Given the description of an element on the screen output the (x, y) to click on. 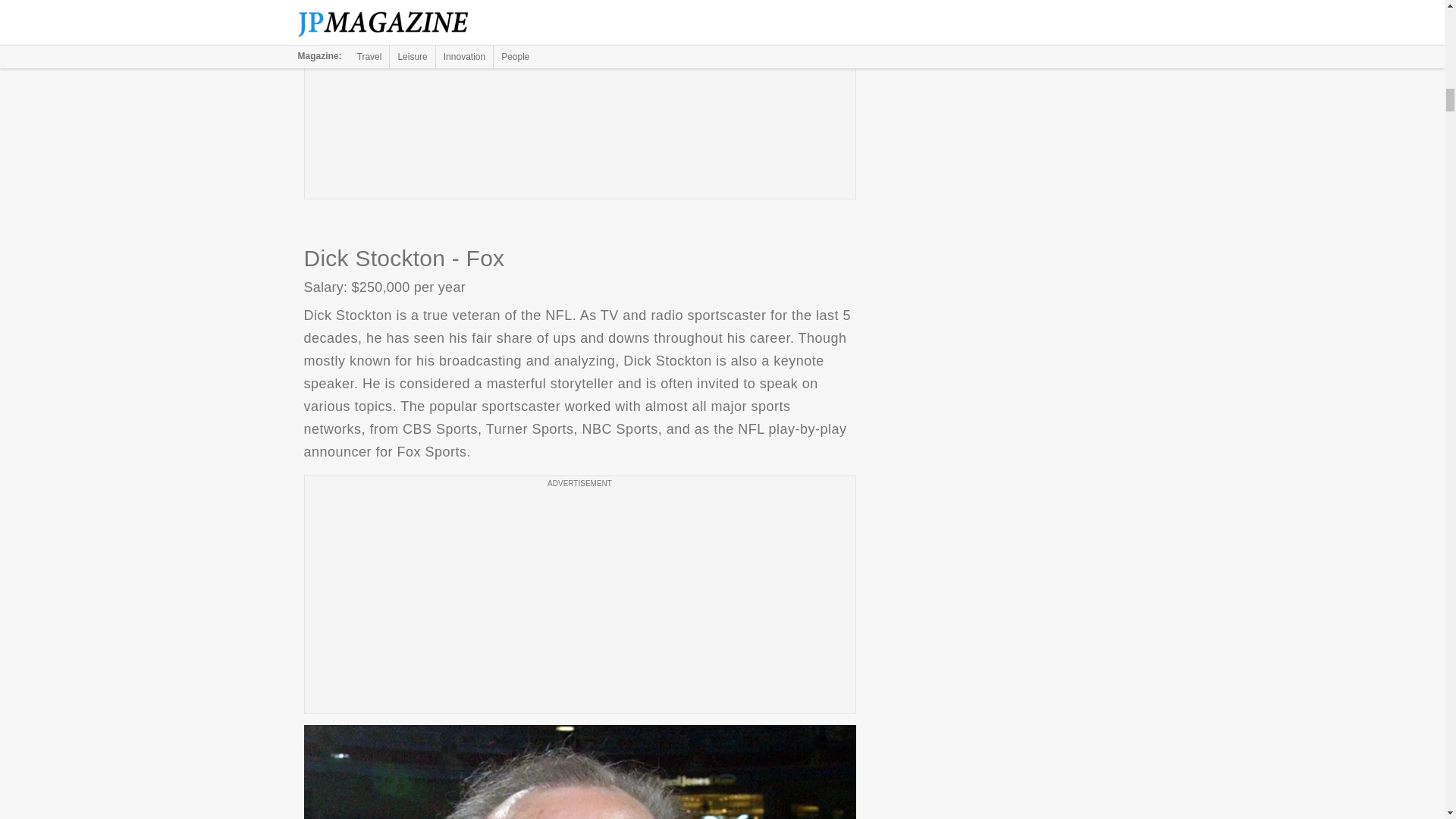
Dick Stockton - Fox (579, 771)
